Given the description of an element on the screen output the (x, y) to click on. 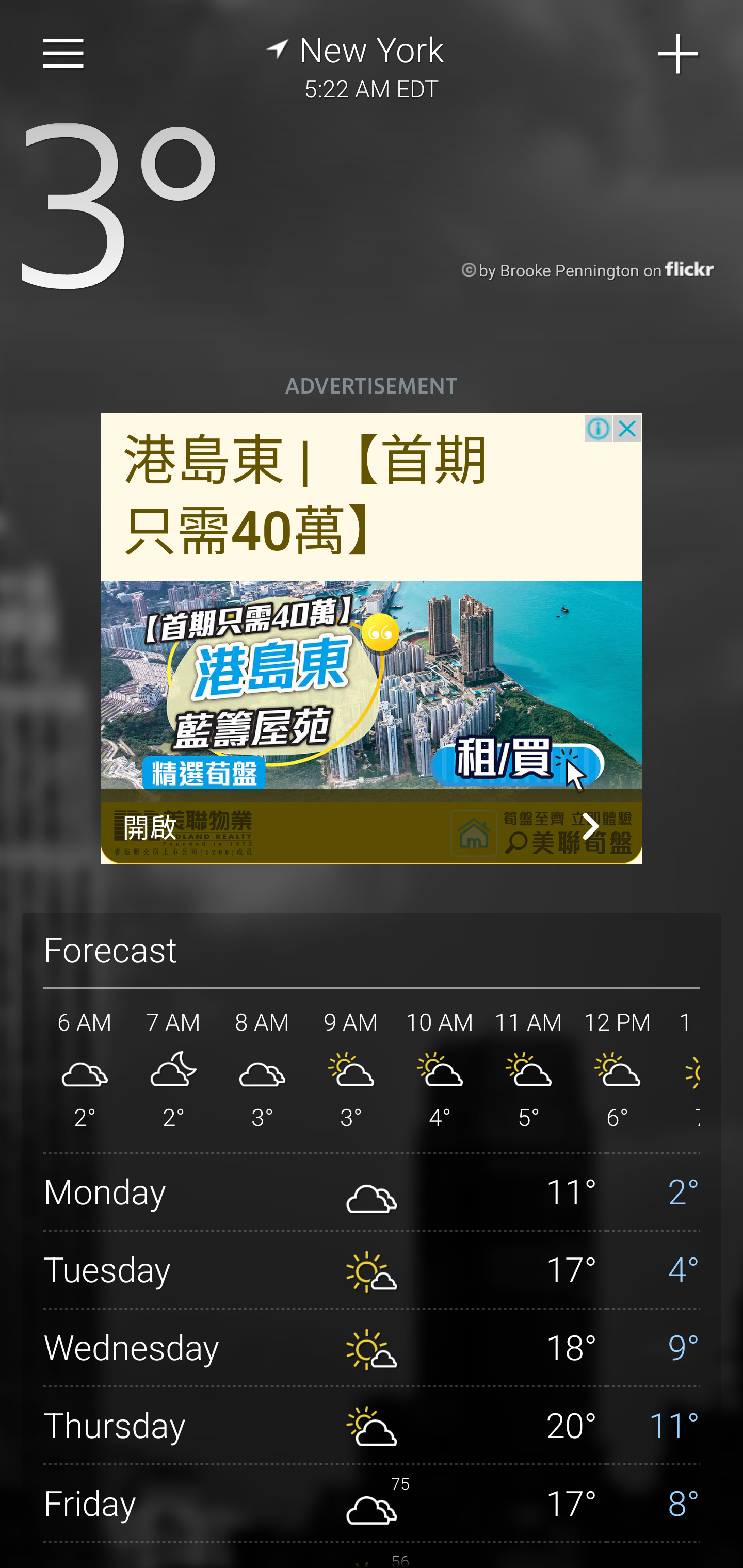
Sidebar (64, 54)
Add City (678, 53)
港島東 | 【首期 只需40萬】 港島東 | 【首期 
 只需40萬】 (305, 496)
開啟 (371, 825)
